Given the description of an element on the screen output the (x, y) to click on. 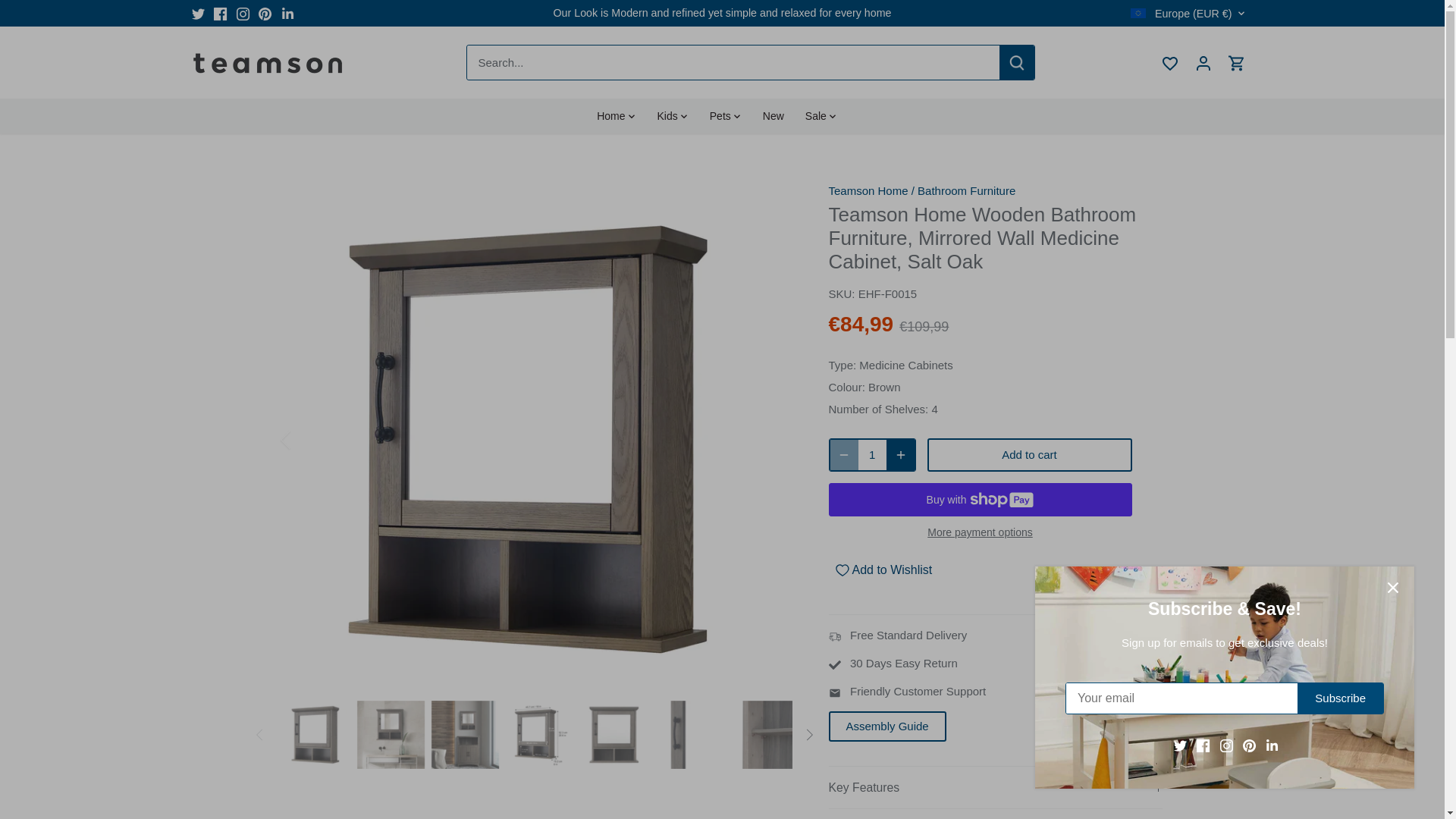
1 (872, 454)
Twitter (196, 13)
Facebook (220, 13)
Pinterest (265, 13)
Home (615, 115)
Instagram (241, 13)
